Given the description of an element on the screen output the (x, y) to click on. 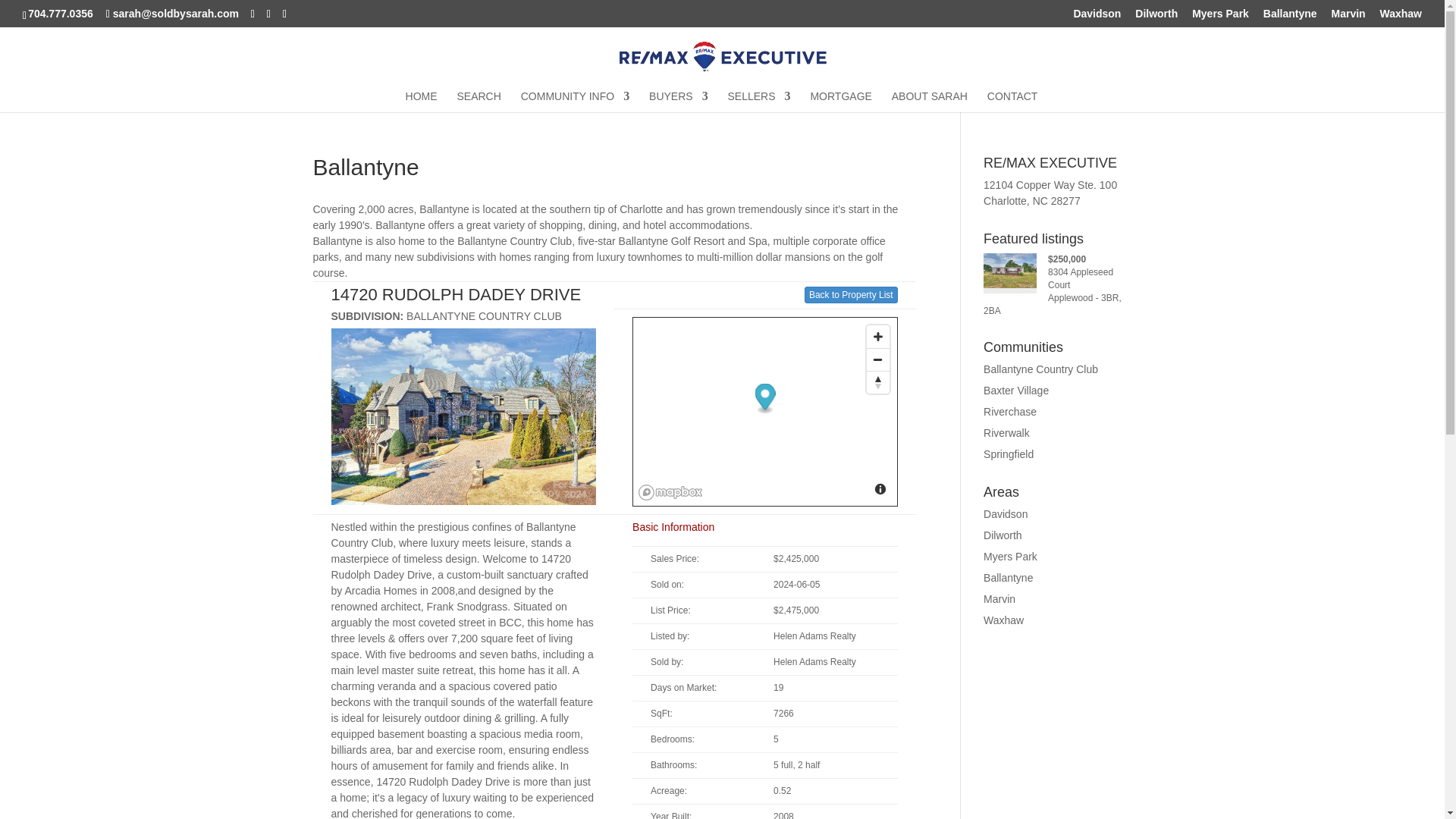
BUYERS (678, 101)
CONTACT (1012, 101)
Ballantyne (1290, 16)
Dilworth (1156, 16)
Myers Park (1220, 16)
SELLERS (759, 101)
HOME (422, 101)
Marvin (1347, 16)
MORTGAGE (839, 101)
SEARCH (478, 101)
Waxhaw (1401, 16)
ABOUT SARAH (929, 101)
COMMUNITY INFO (574, 101)
Davidson (1097, 16)
